Given the description of an element on the screen output the (x, y) to click on. 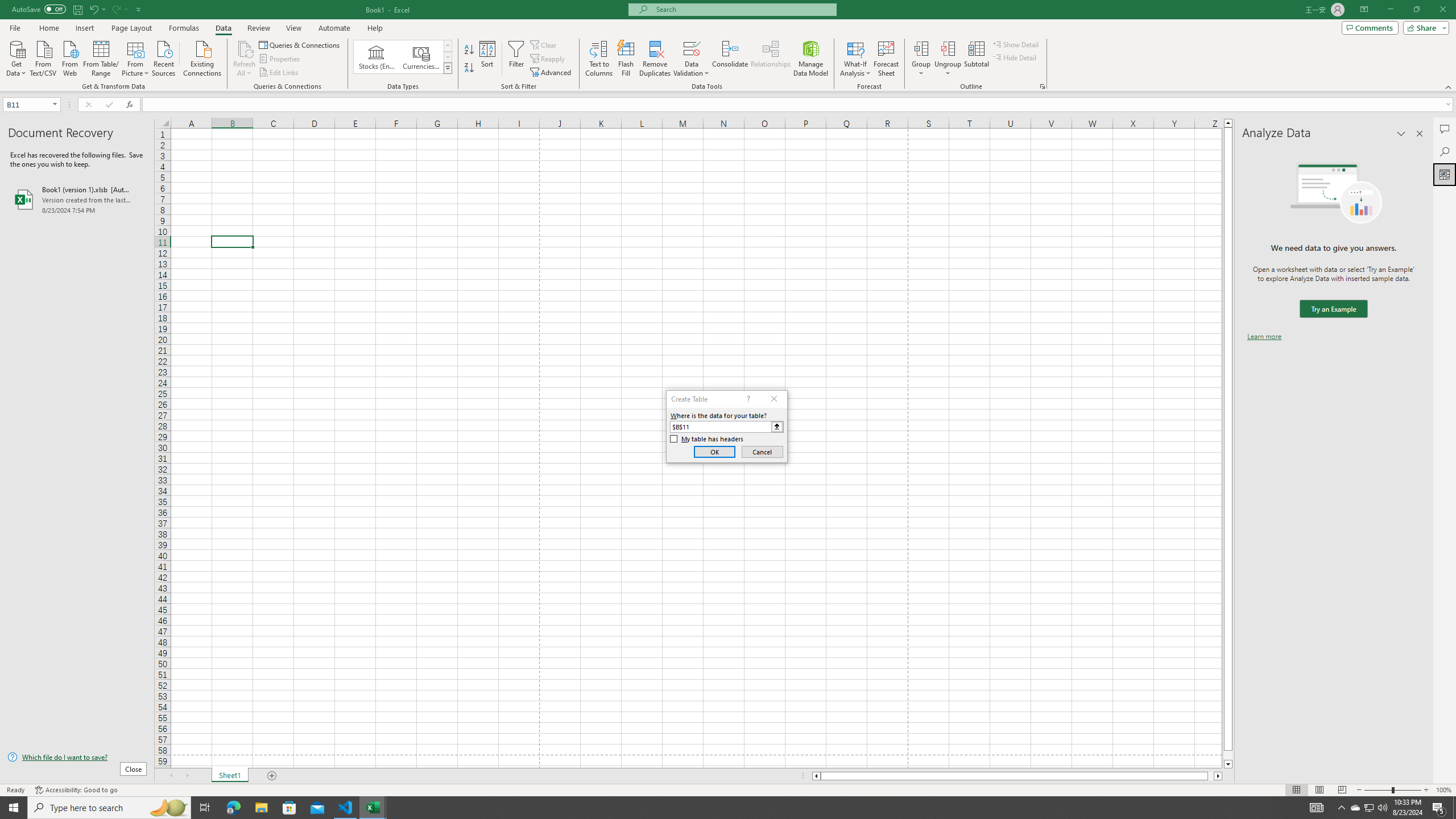
Consolidate... (729, 58)
